Given the description of an element on the screen output the (x, y) to click on. 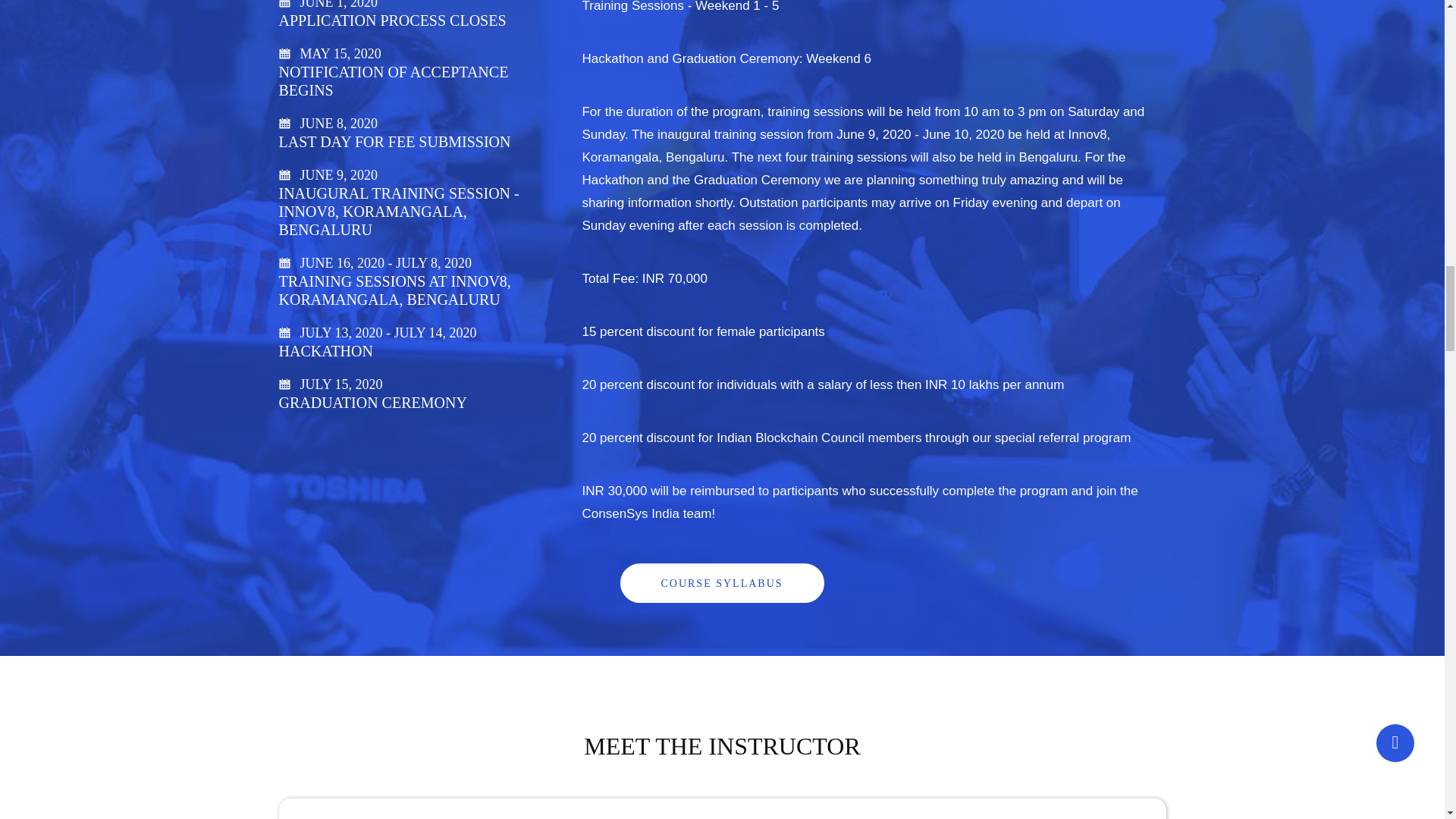
COURSE SYLLABUS (722, 582)
